Given the description of an element on the screen output the (x, y) to click on. 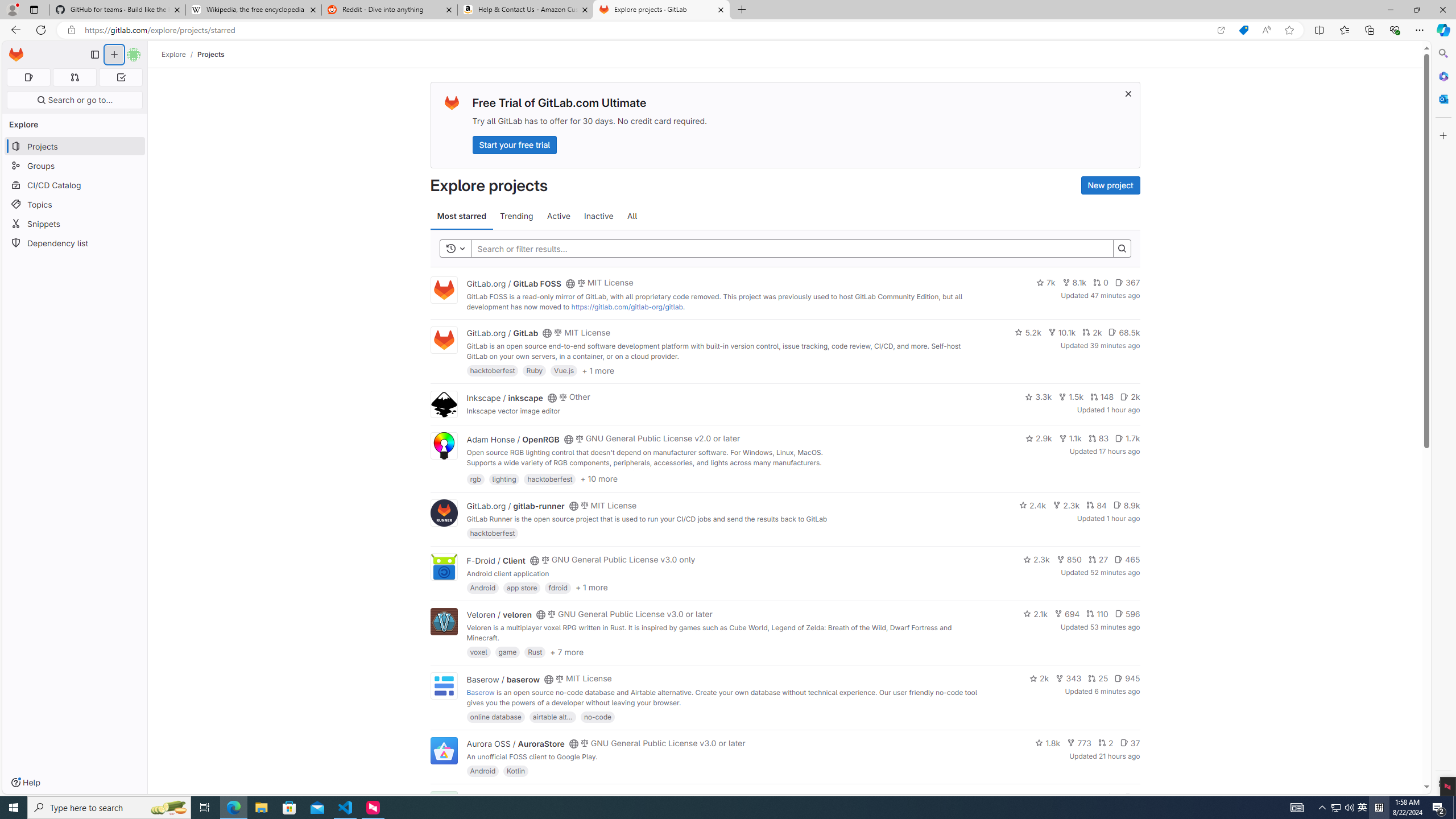
0 (1100, 282)
Projects (211, 53)
Vue.js (563, 370)
2k (1039, 678)
Primary navigation sidebar (94, 54)
https://openrgb.org (563, 472)
Inactive (598, 216)
Trending (516, 216)
Class: s16 (568, 798)
